Given the description of an element on the screen output the (x, y) to click on. 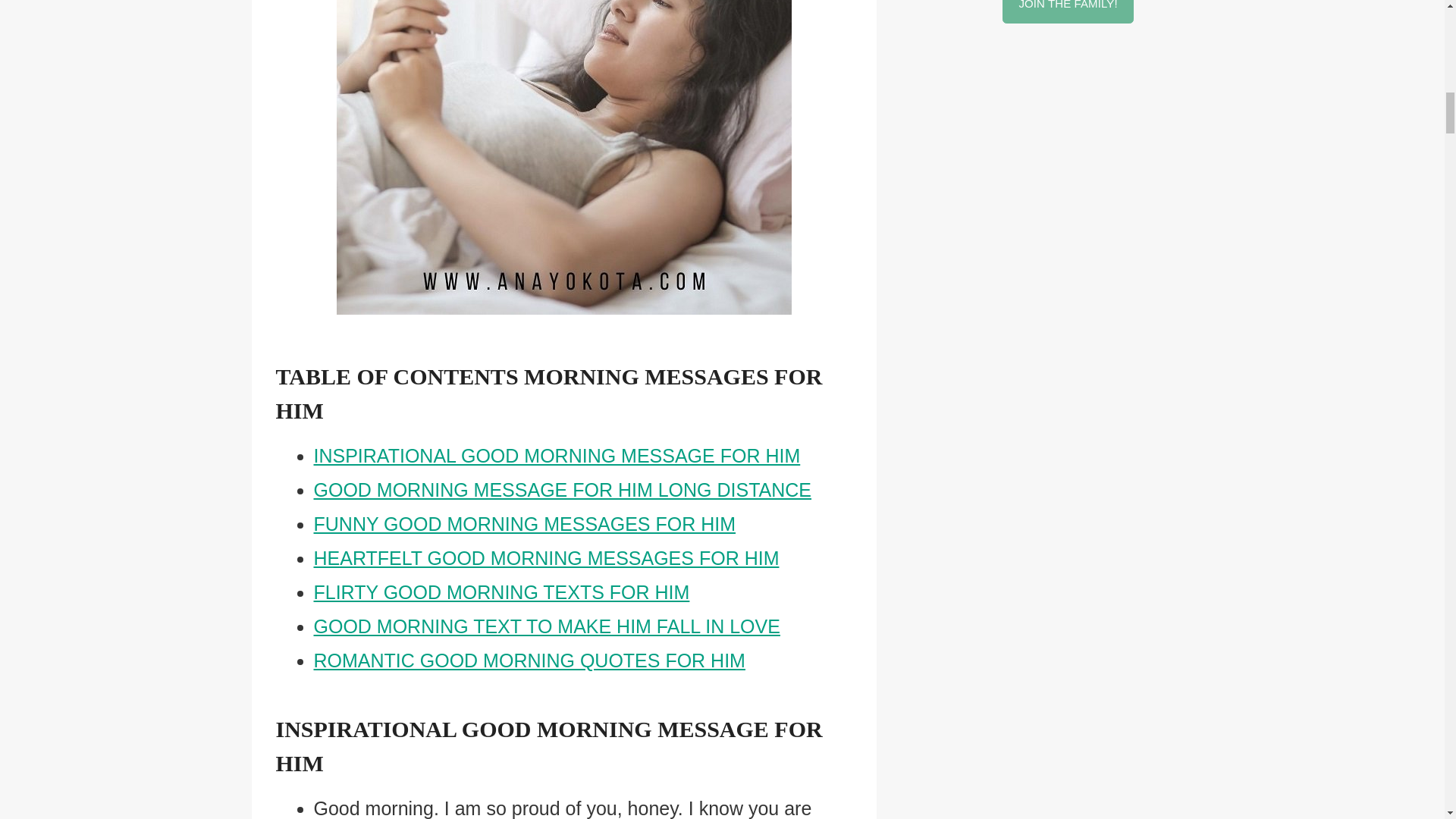
FUNNY GOOD MORNING MESSAGES FOR HIM (525, 523)
INSPIRATIONAL GOOD MORNING MESSAGE FOR HIM (557, 455)
GOOD MORNING TEXT TO MAKE HIM FALL IN LOVE (547, 626)
HEARTFELT GOOD MORNING MESSAGES FOR HIM (546, 557)
GOOD MORNING MESSAGE FOR HIM LONG DISTANCE (563, 489)
ROMANTIC GOOD MORNING QUOTES FOR HIM (529, 660)
FLIRTY GOOD MORNING TEXTS FOR HIM (502, 591)
